Given the description of an element on the screen output the (x, y) to click on. 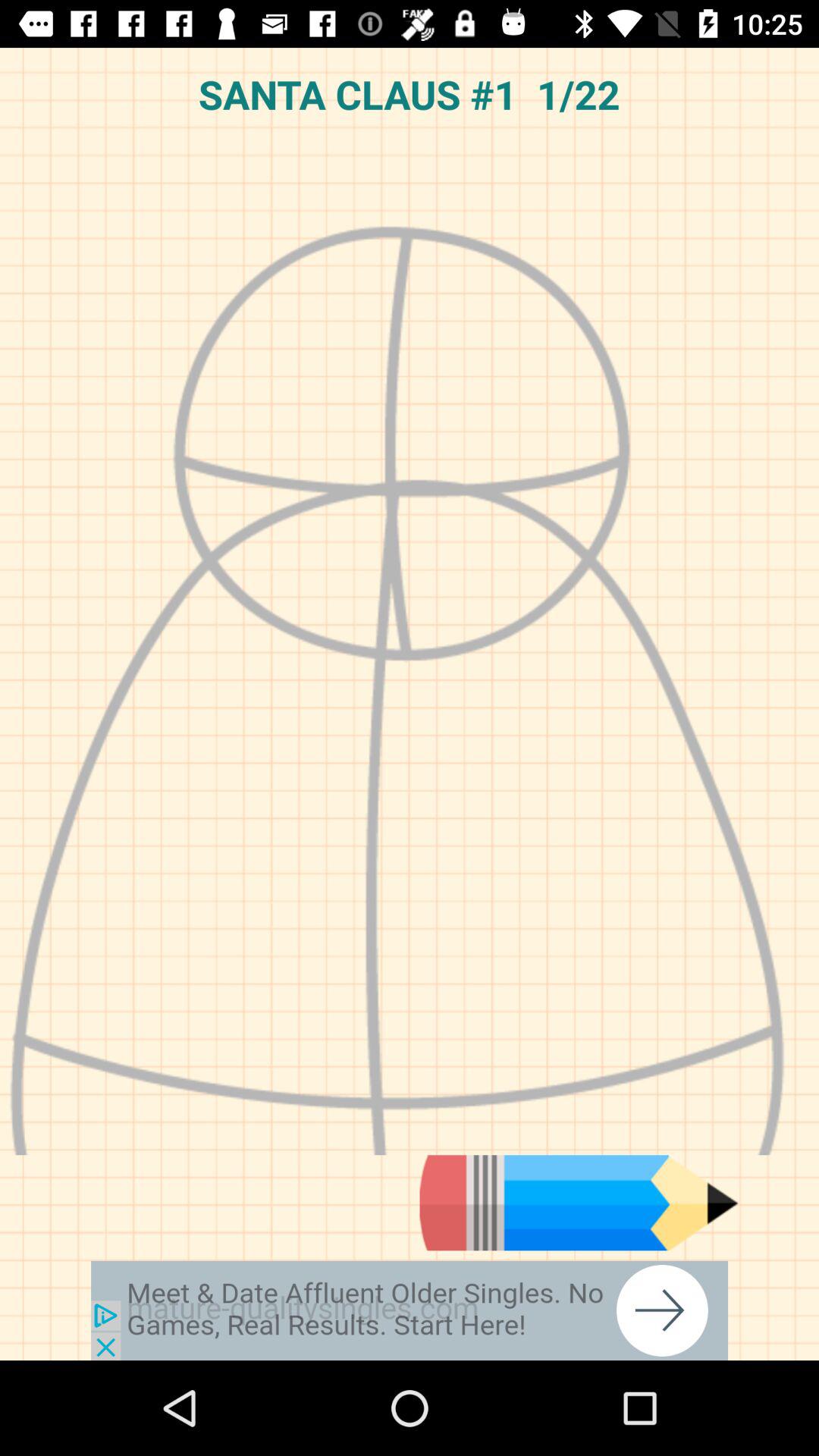
go to advertisement (409, 1310)
